Given the description of an element on the screen output the (x, y) to click on. 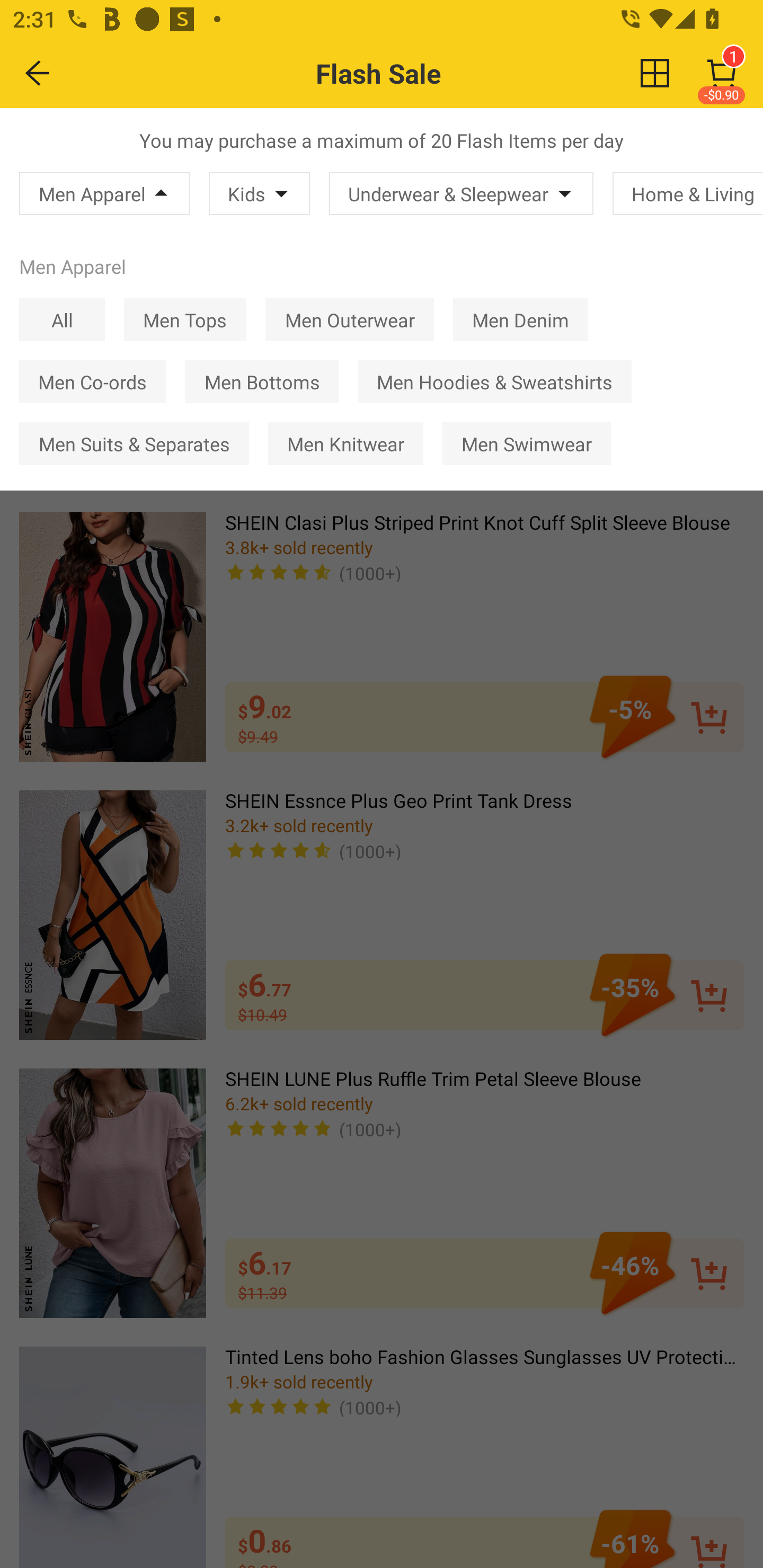
Flash Sale change view 1 -$0.90 (419, 72)
1 -$0.90 (721, 72)
change view (654, 72)
BACK (38, 72)
Men Apparel (104, 193)
Kids (259, 193)
Underwear & Sleepwear (460, 193)
Home & Living (687, 193)
